Given the description of an element on the screen output the (x, y) to click on. 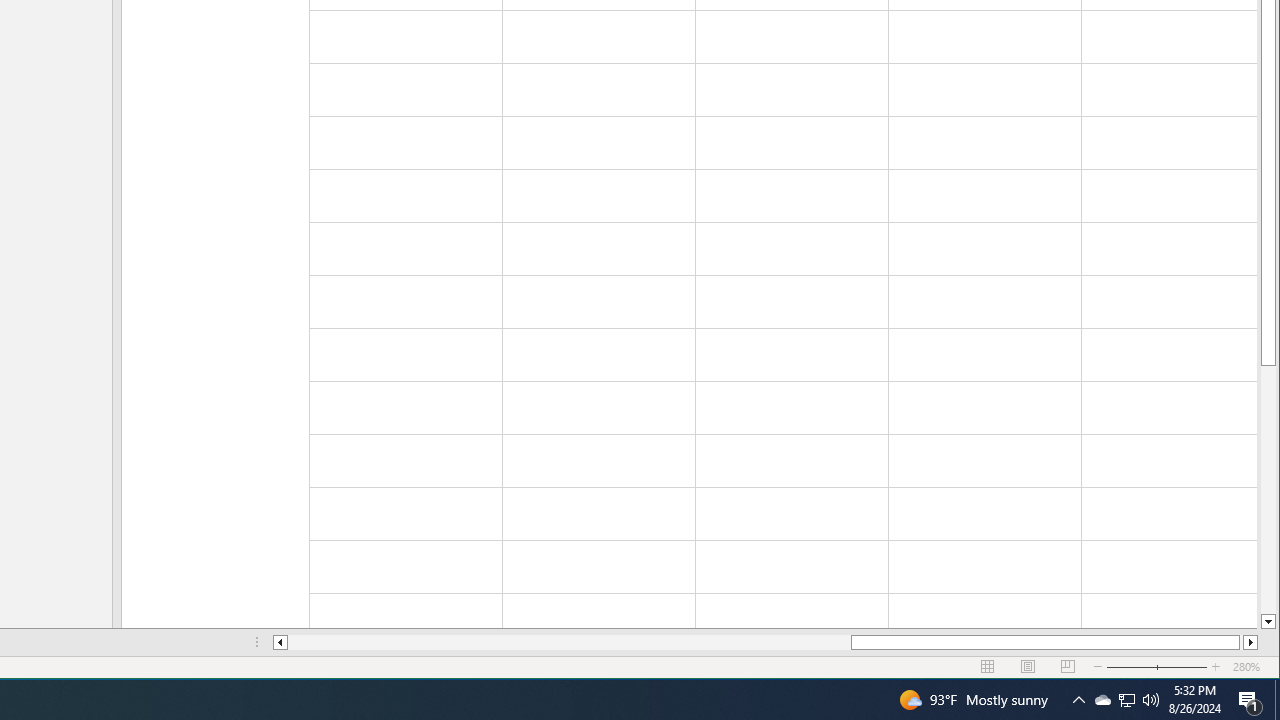
Action Center, 1 new notification (1250, 699)
User Promoted Notification Area (1126, 699)
